Given the description of an element on the screen output the (x, y) to click on. 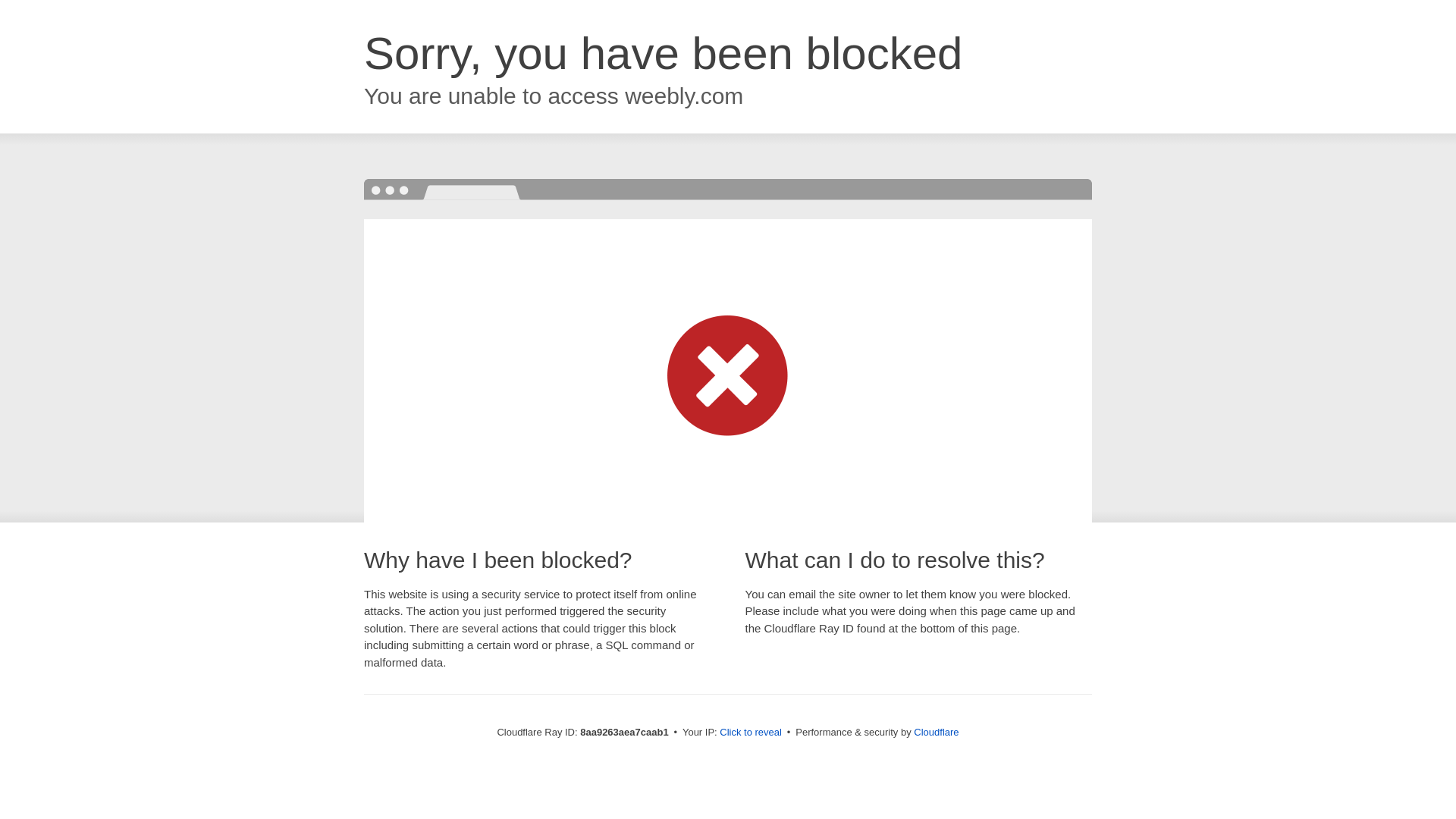
Cloudflare (936, 731)
Click to reveal (750, 732)
